Given the description of an element on the screen output the (x, y) to click on. 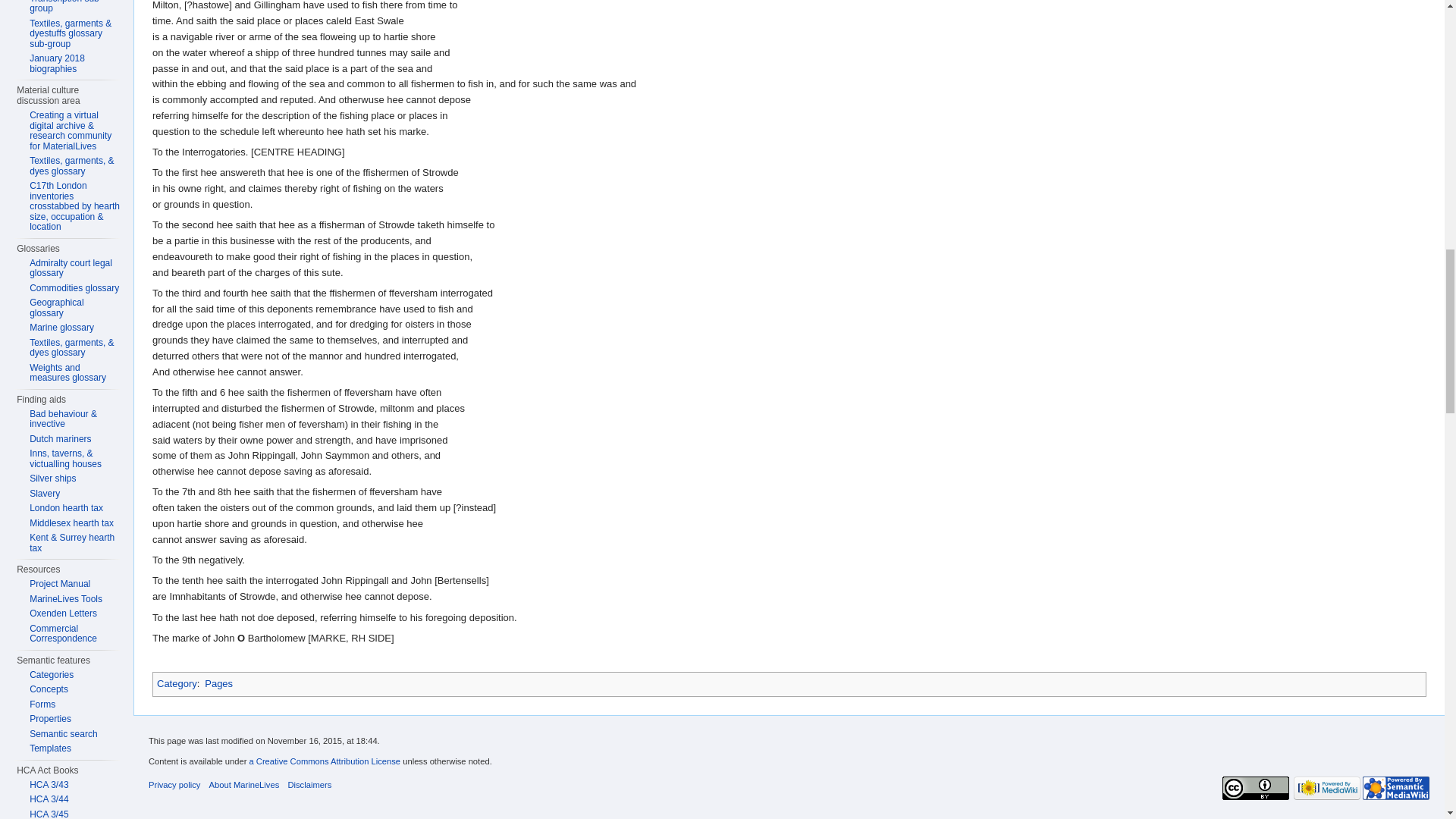
Pages (218, 683)
Category (176, 683)
